Given the description of an element on the screen output the (x, y) to click on. 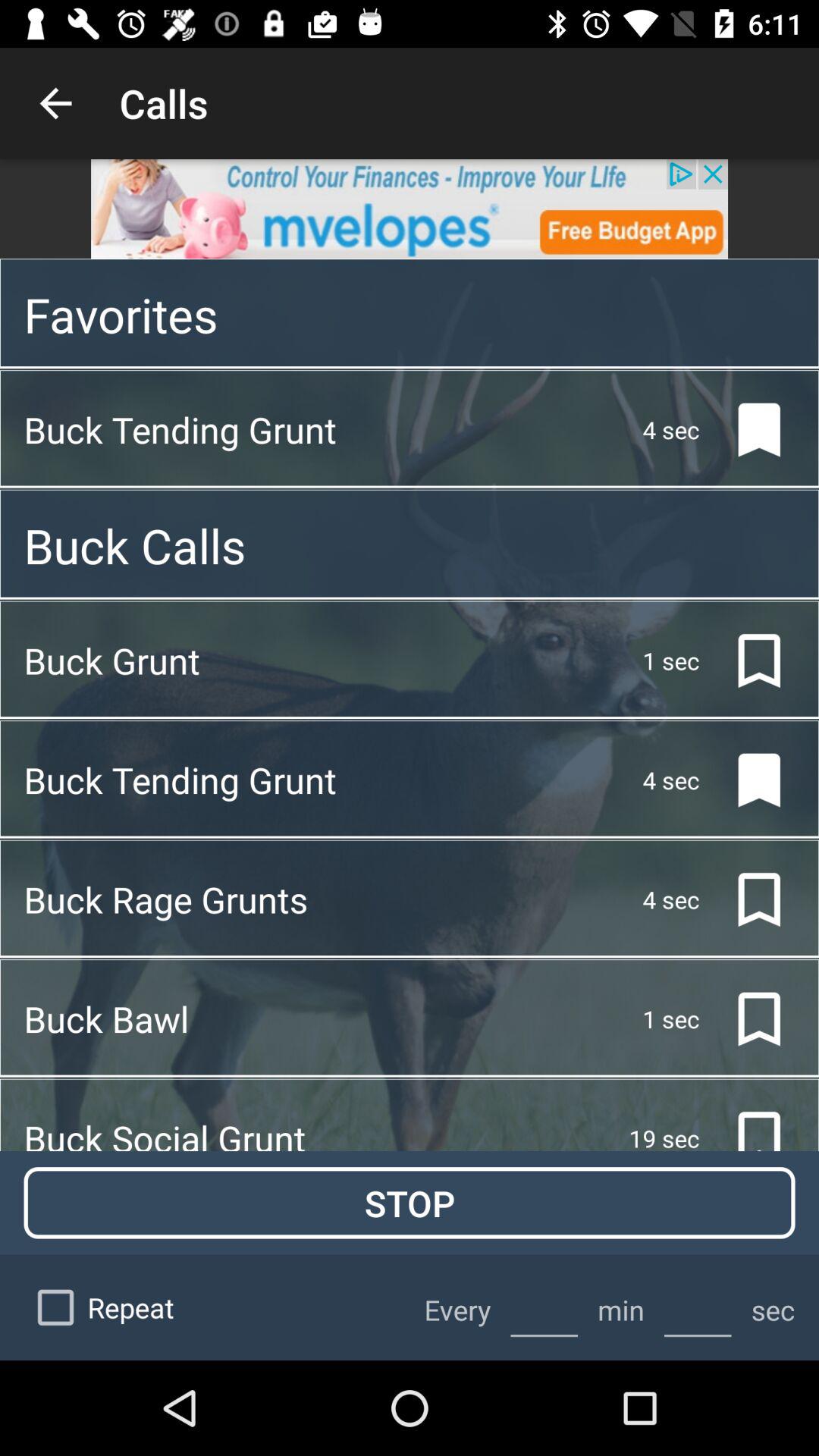
for advertisement (409, 208)
